Given the description of an element on the screen output the (x, y) to click on. 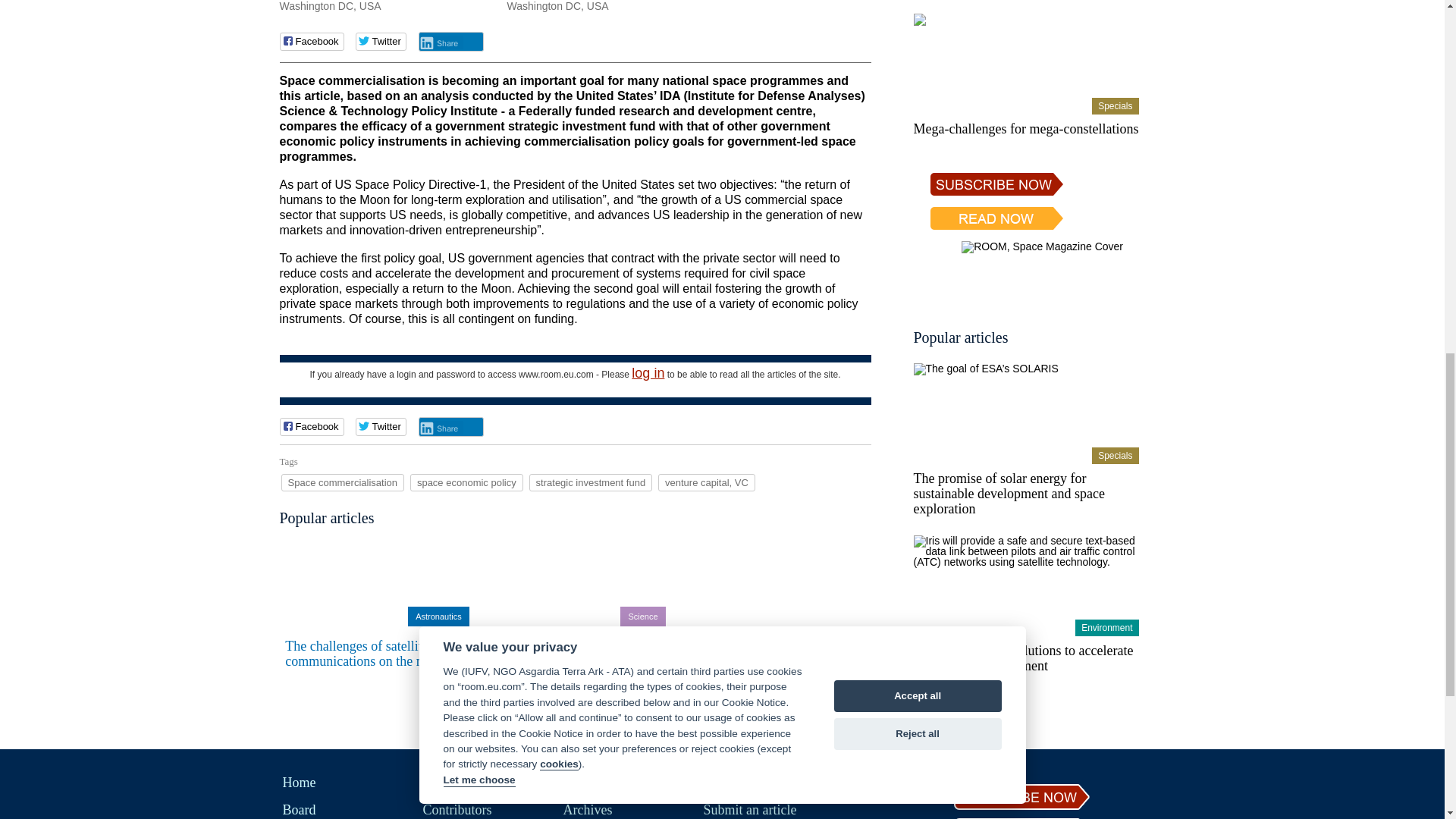
Share link on Facebook (311, 426)
Share link on Facebook (311, 41)
Share link on Twitter (380, 426)
Share link on Twitter (380, 41)
